Given the description of an element on the screen output the (x, y) to click on. 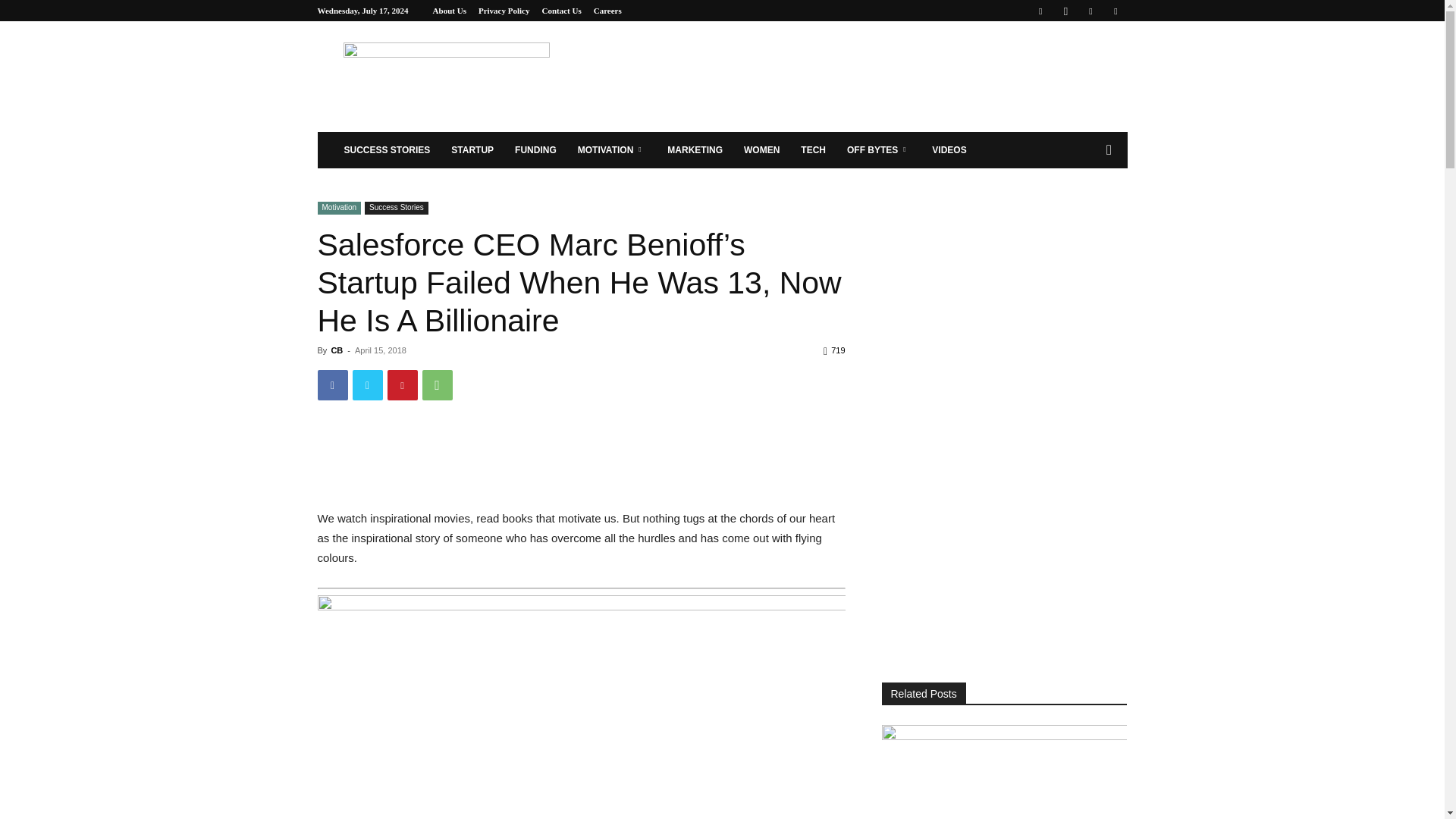
Pinterest (1090, 10)
STARTUP (472, 149)
FUNDING (535, 149)
Facebook (332, 385)
Facebook (1040, 10)
MARKETING (694, 149)
Careers (607, 10)
MOTIVATION (612, 149)
Pinterest (401, 385)
About Us (448, 10)
Instagram (1065, 10)
WOMEN (761, 149)
Twitter (366, 385)
Contact Us (560, 10)
Privacy Policy (504, 10)
